Given the description of an element on the screen output the (x, y) to click on. 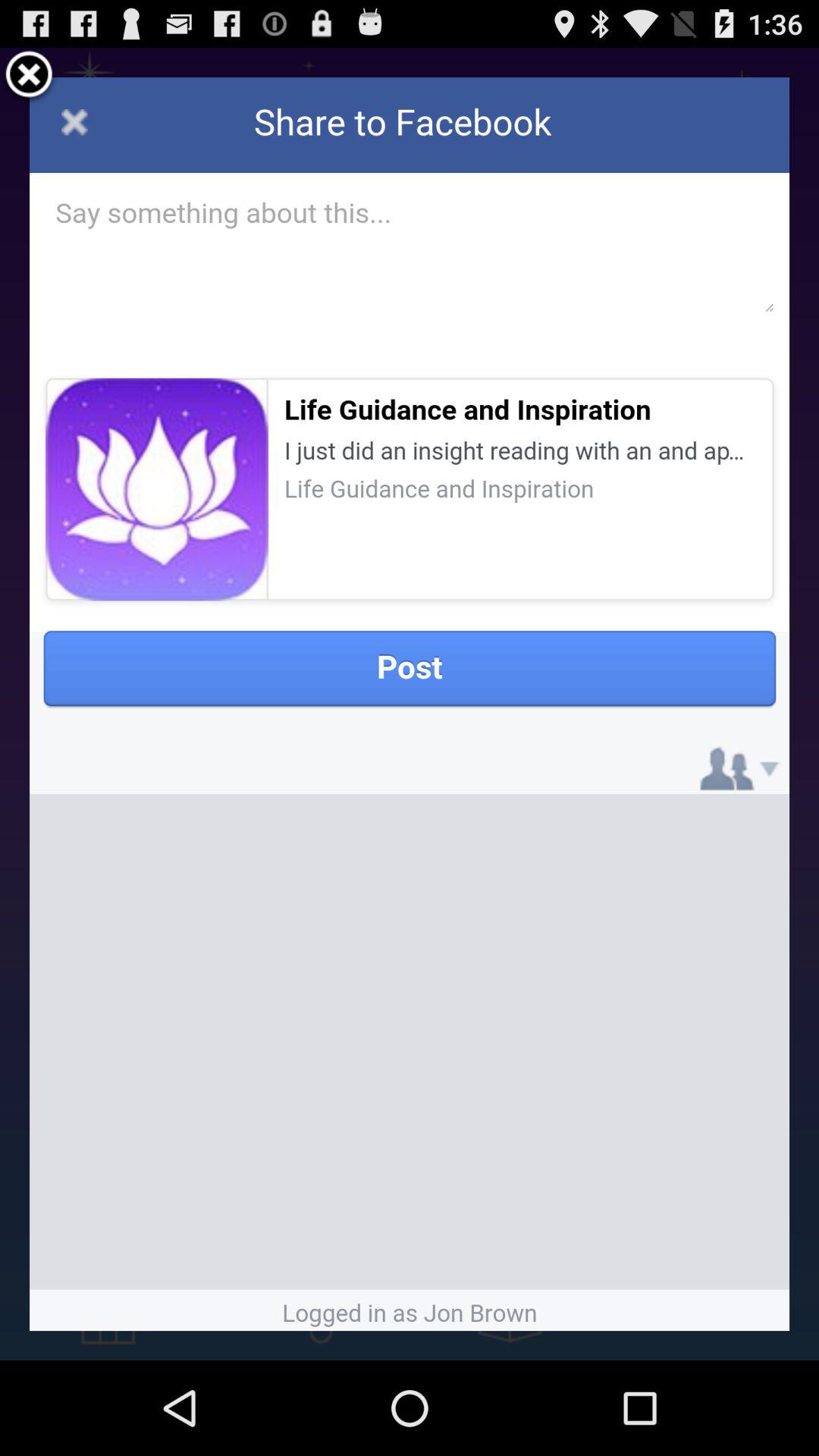
choose the icon at the center (409, 703)
